Given the description of an element on the screen output the (x, y) to click on. 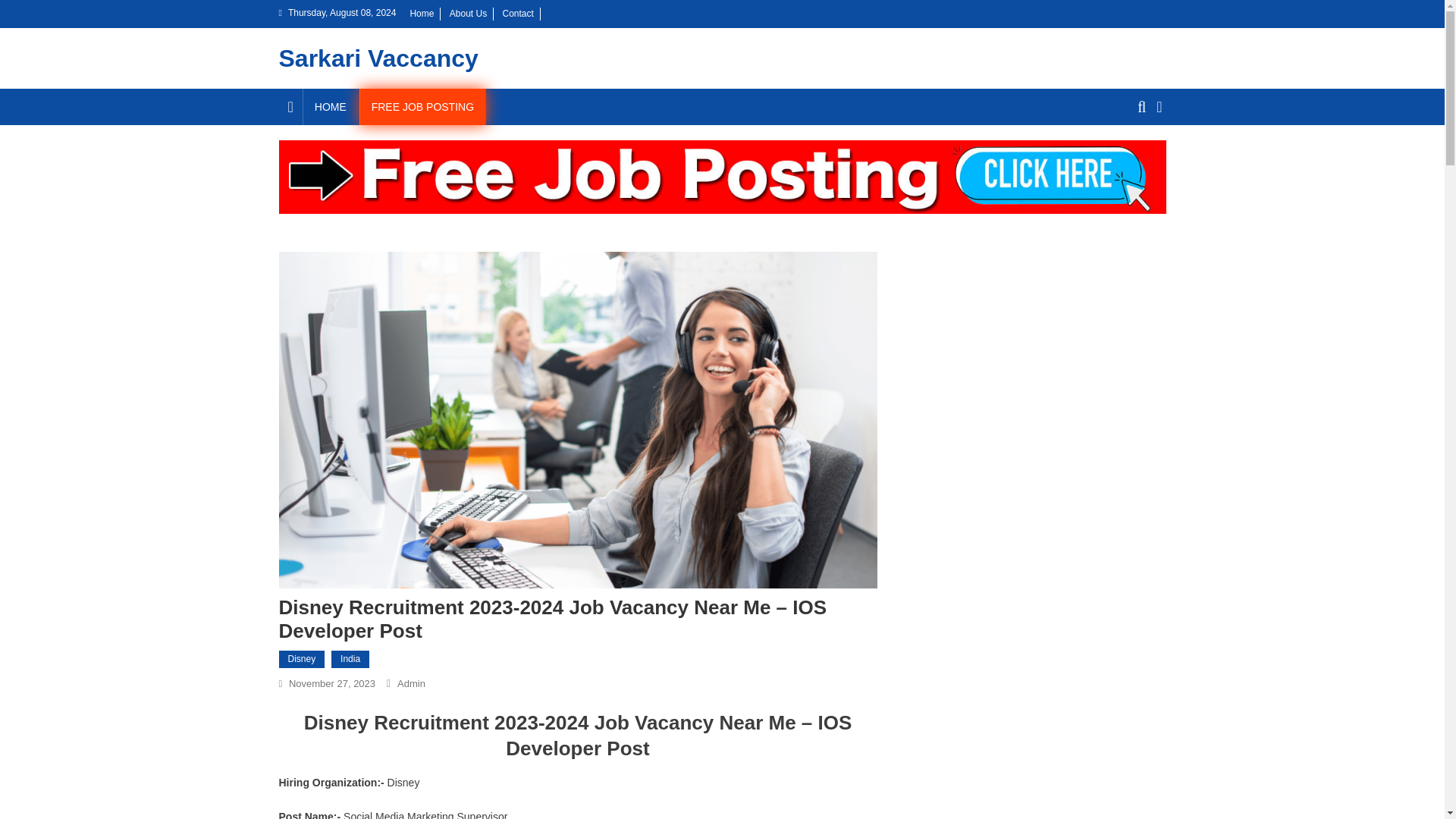
Sarkari Vaccancy (379, 58)
Search (1133, 162)
HOME (330, 106)
Home (421, 13)
November 27, 2023 (331, 683)
Admin (411, 683)
FREE JOB POSTING (422, 106)
Disney (301, 659)
Contact (517, 13)
About Us (467, 13)
